Given the description of an element on the screen output the (x, y) to click on. 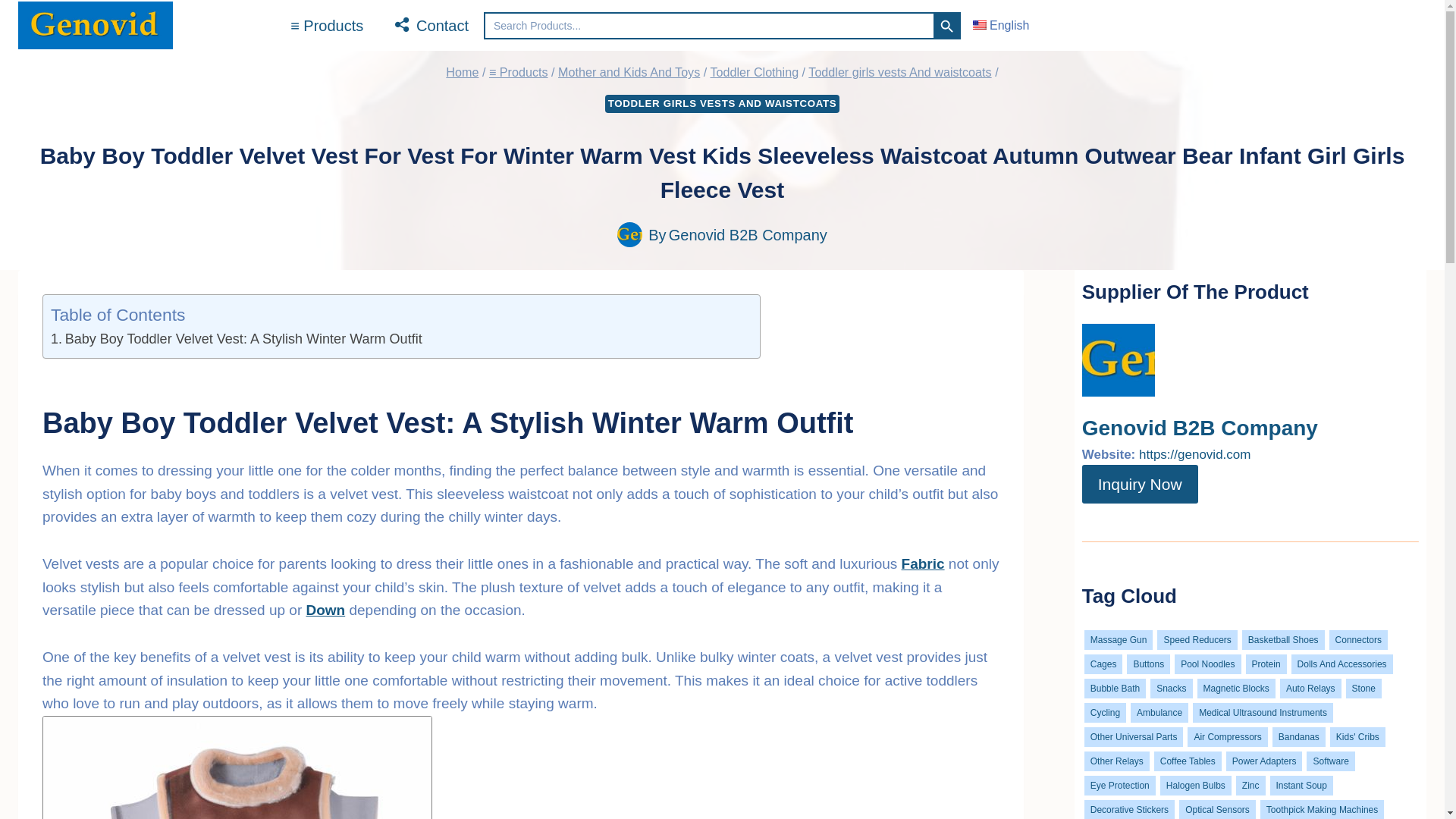
Genovid B2B Company (747, 234)
Down (325, 609)
Mother and Kids And Toys (628, 71)
TODDLER GIRLS VESTS AND WAISTCOATS (722, 104)
Baby Boy Toddler Velvet Vest: A Stylish Winter Warm Outfit (236, 339)
Contact (430, 25)
Fabric (922, 563)
Baby Boy Toddler Velvet Vest: A Stylish Winter Warm Outfit (236, 339)
Home (462, 71)
Toddler Clothing (753, 71)
Search Button (946, 25)
English (1000, 25)
Toddler girls vests And waistcoats (899, 71)
